Given the description of an element on the screen output the (x, y) to click on. 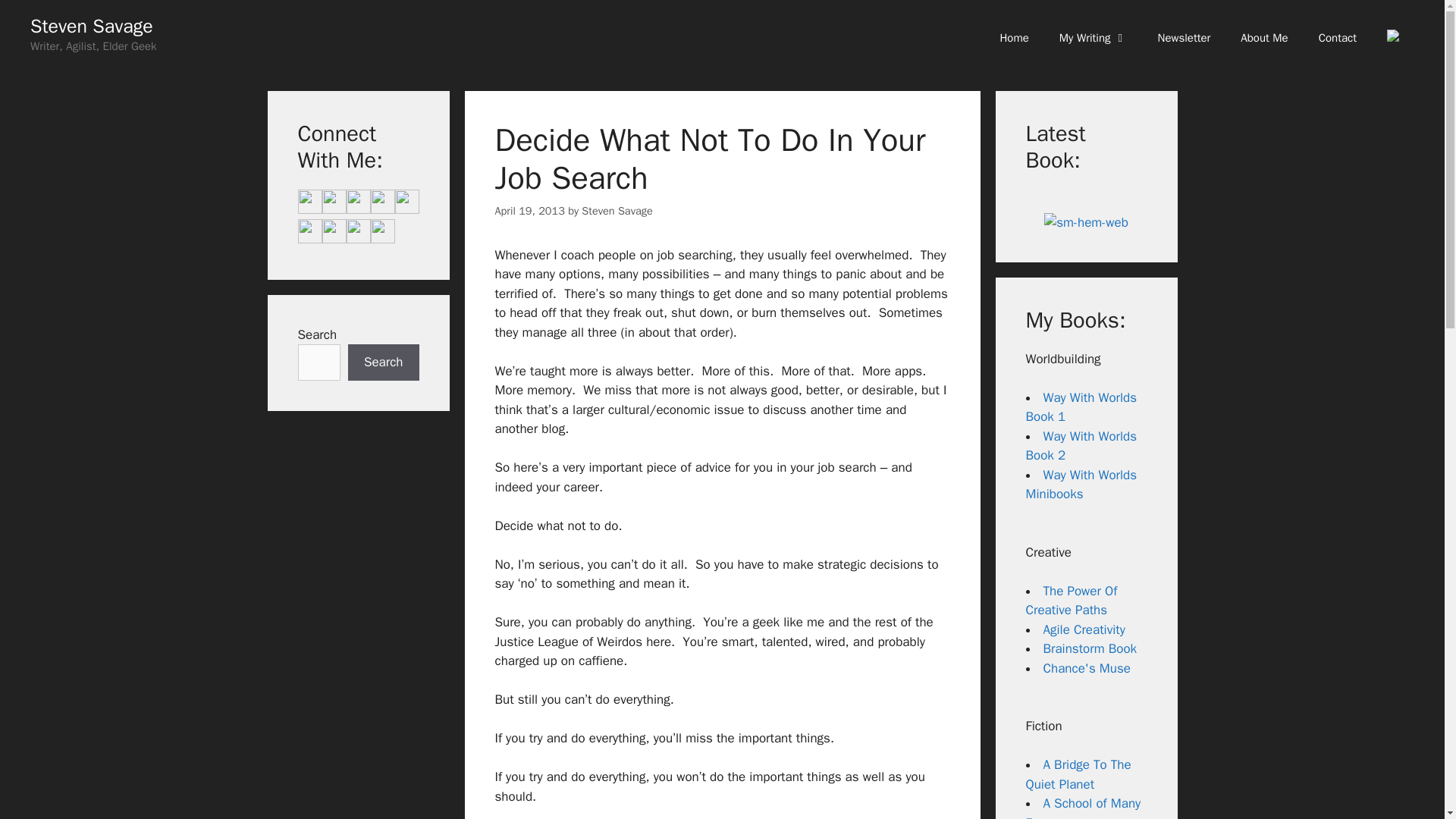
Contact (1337, 37)
Steven Savage (91, 25)
Home (1013, 37)
Way With Worlds Book 1 (1081, 407)
Search (383, 361)
About Me (1264, 37)
Way With Worlds Minibooks (1081, 484)
Way With Worlds Book 2 (1081, 446)
Newsletter (1183, 37)
Steven Savage (616, 210)
View all posts by Steven Savage (616, 210)
My Writing (1092, 37)
